Given the description of an element on the screen output the (x, y) to click on. 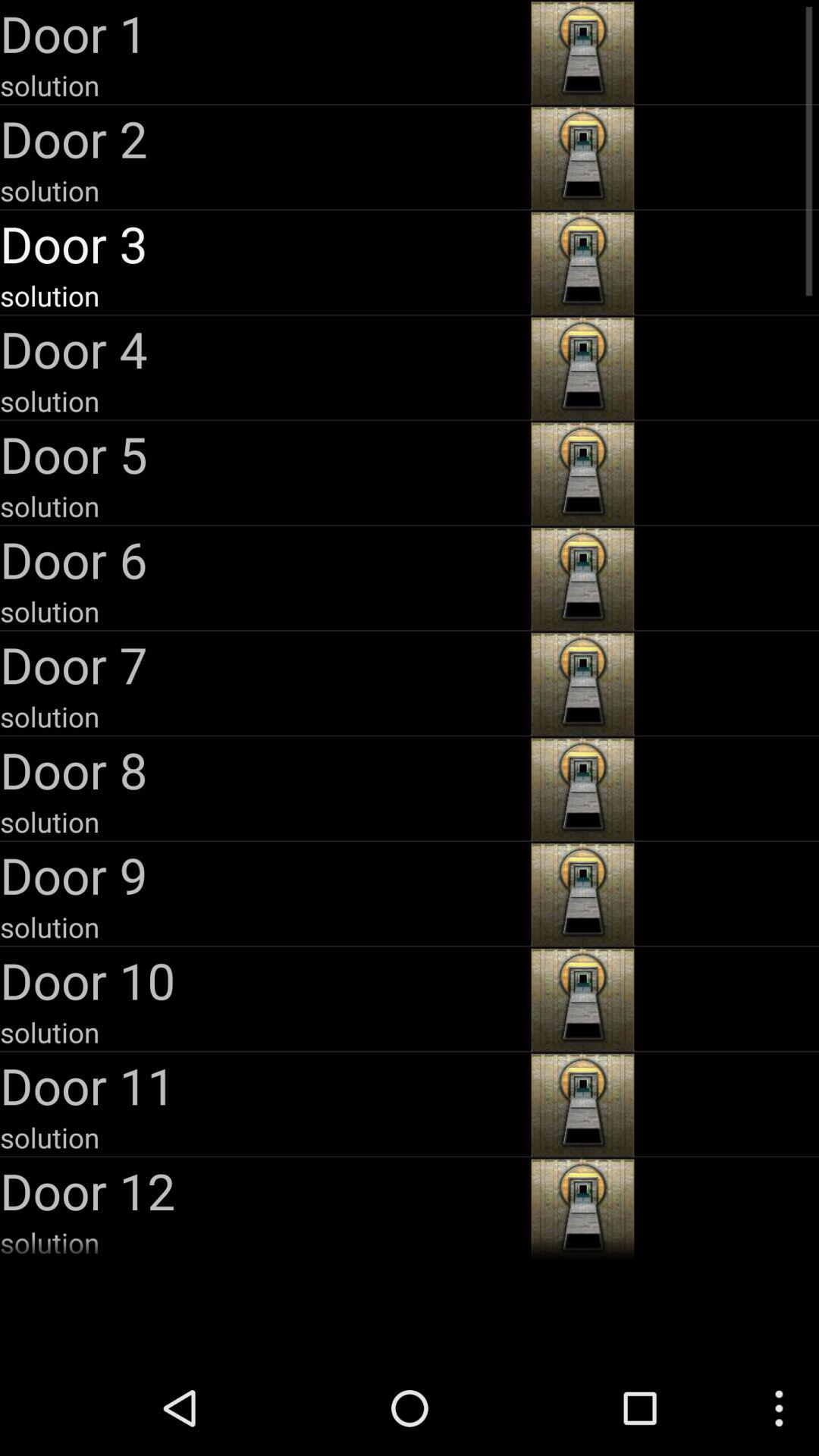
launch door 4 (263, 348)
